Given the description of an element on the screen output the (x, y) to click on. 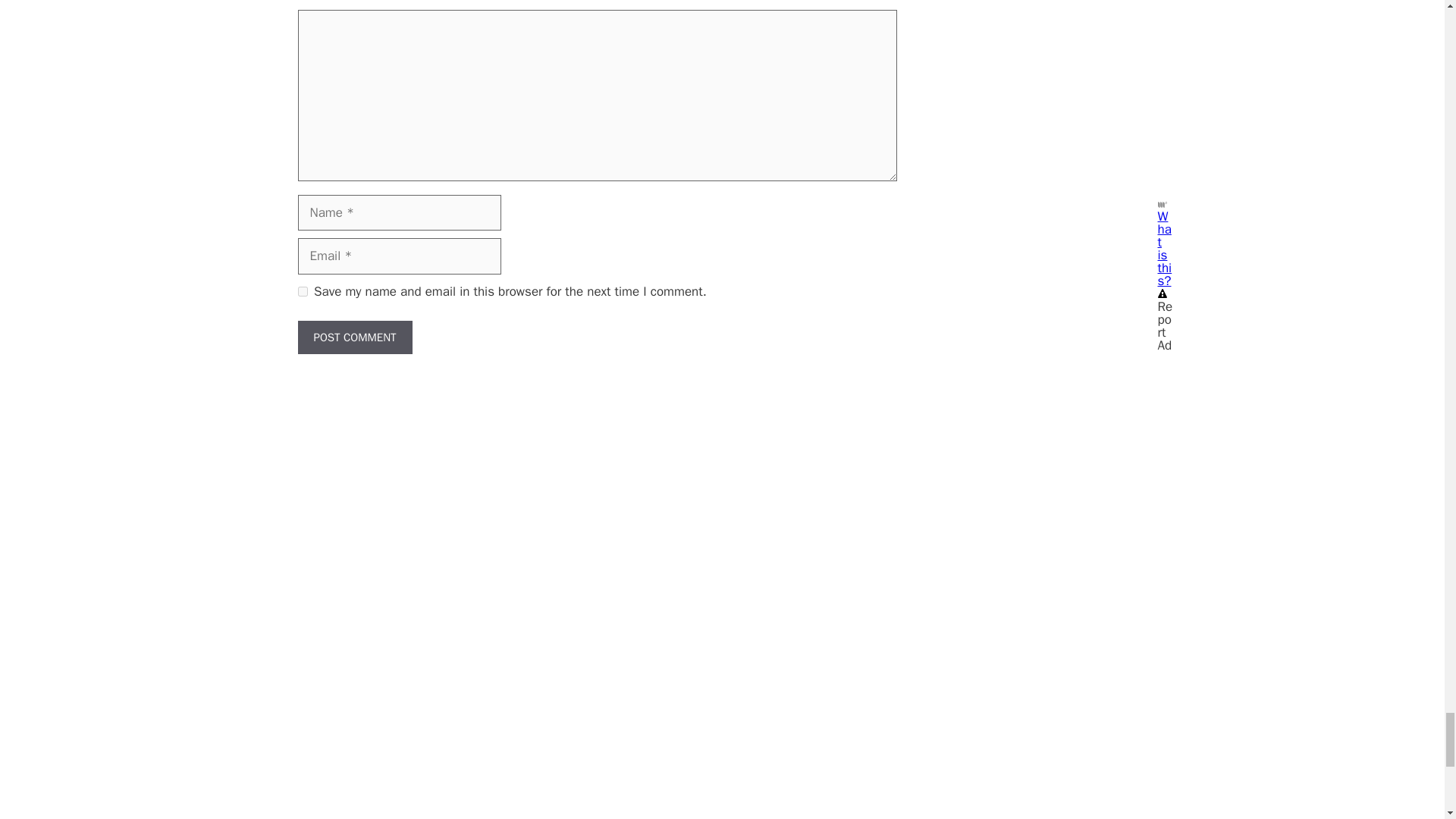
Post Comment (354, 337)
yes (302, 291)
Post Comment (354, 337)
